Given the description of an element on the screen output the (x, y) to click on. 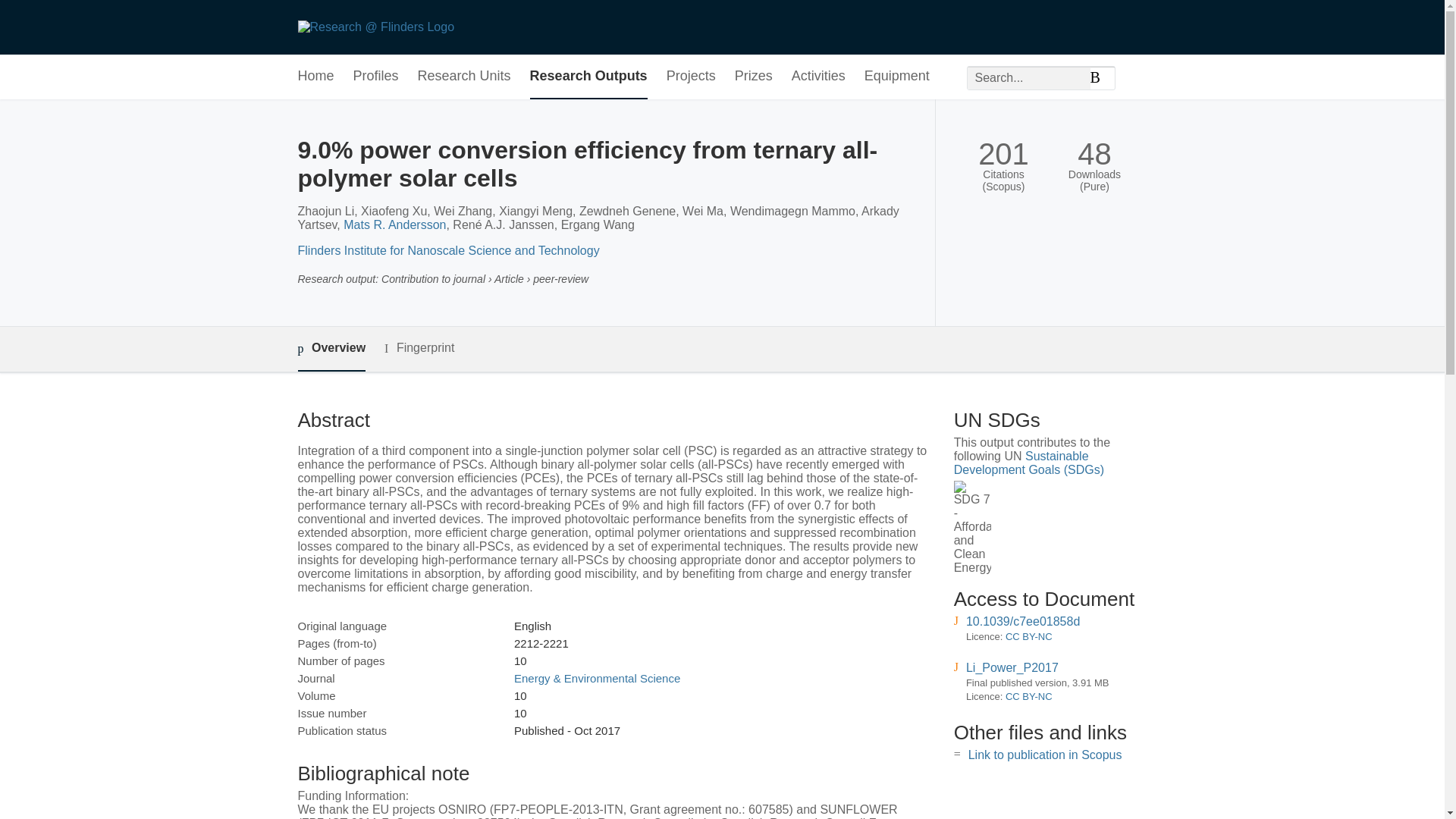
CC BY-NC (1029, 636)
Mats R. Andersson (394, 224)
Overview (331, 348)
CC BY-NC (1029, 696)
Research Outputs (588, 76)
Link to publication in Scopus (1045, 754)
Projects (691, 76)
Activities (818, 76)
Flinders Institute for Nanoscale Science and Technology (447, 250)
